Given the description of an element on the screen output the (x, y) to click on. 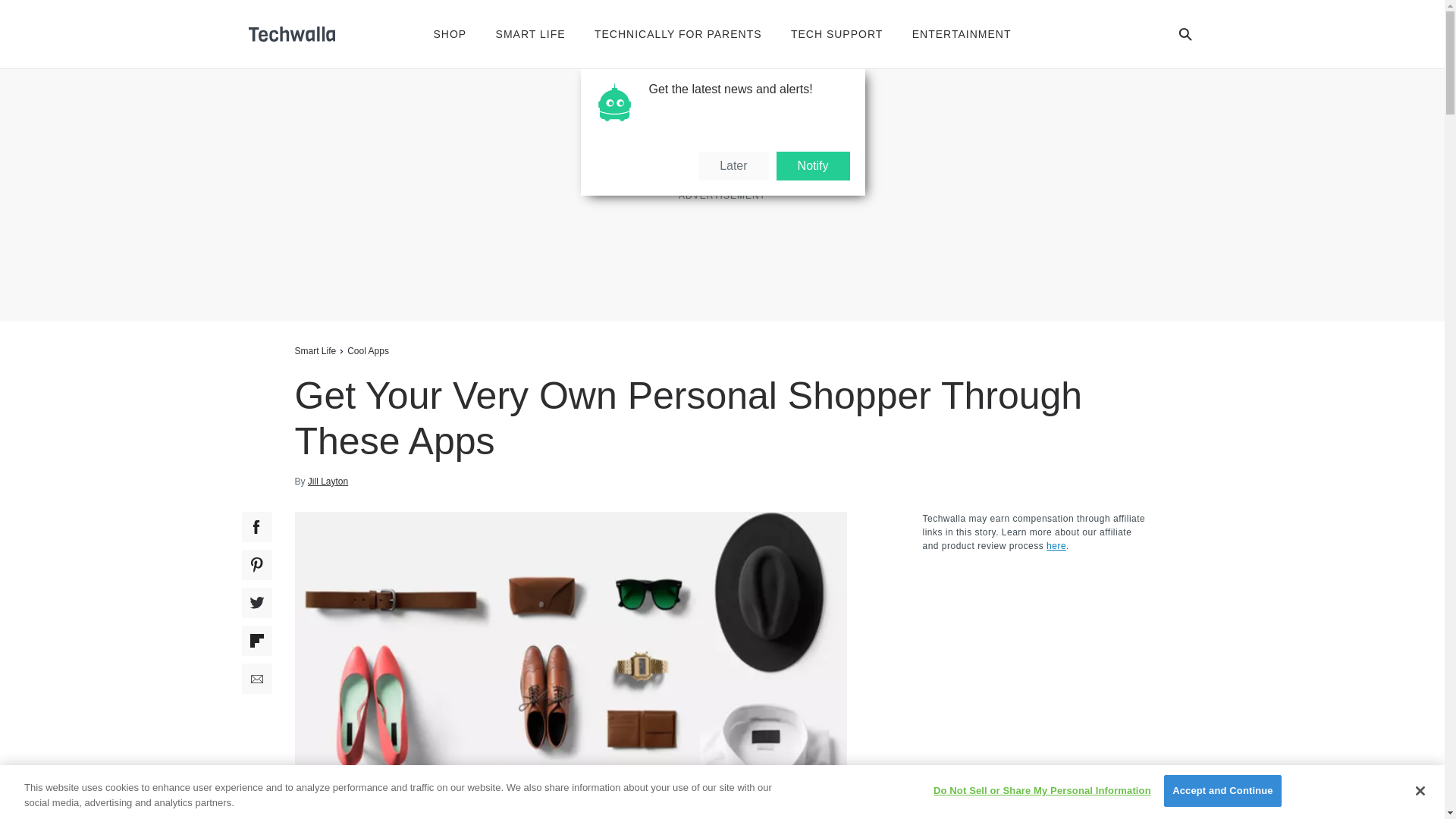
Cool Apps (367, 350)
Notify (813, 165)
3rd party ad content (721, 194)
3rd party ad content (1035, 658)
Learn more about our affiliate and product review process (1055, 545)
Smart Life (315, 350)
Jill Layton (327, 481)
Later (733, 165)
